Given the description of an element on the screen output the (x, y) to click on. 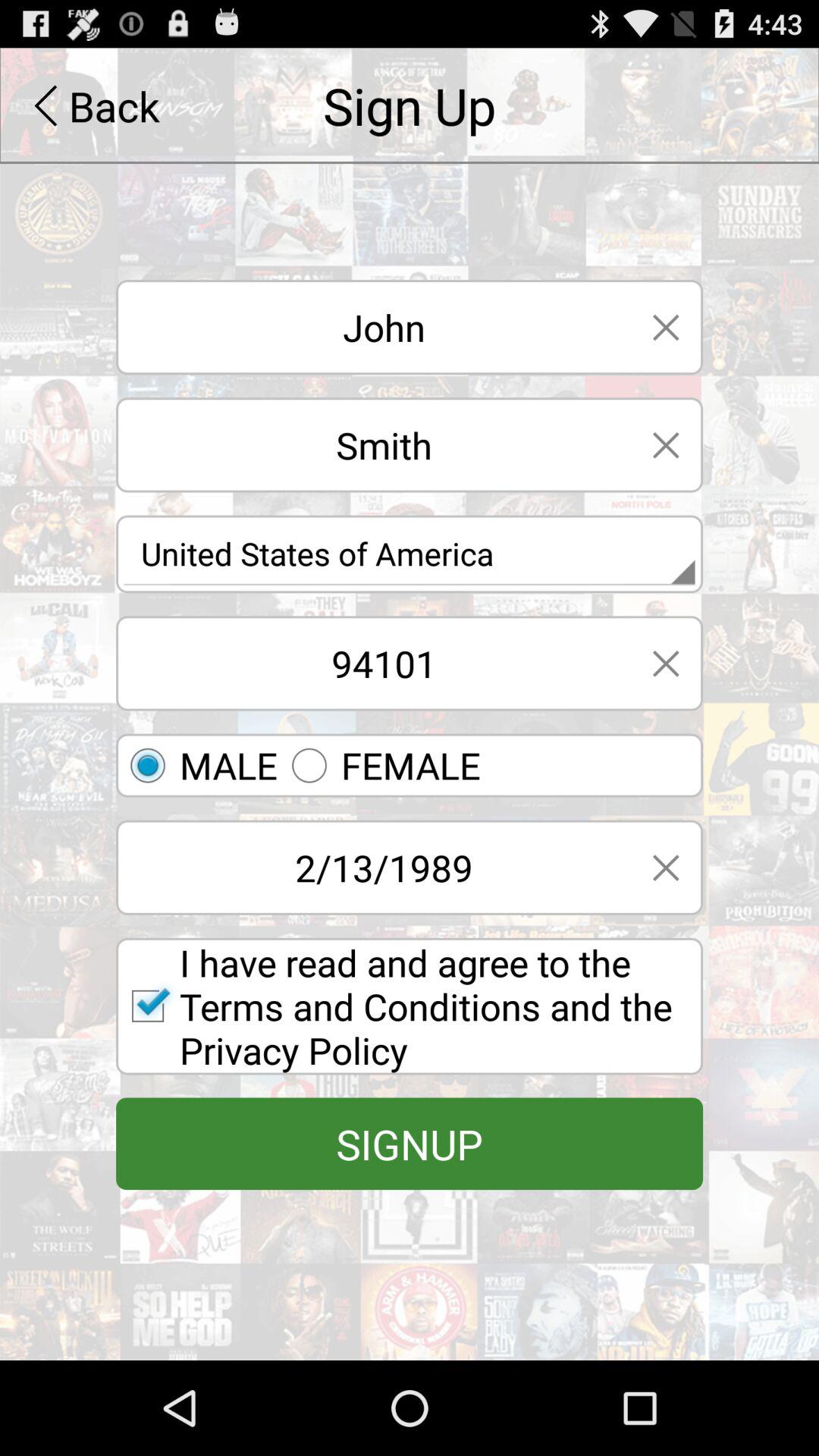
close text field (665, 663)
